Given the description of an element on the screen output the (x, y) to click on. 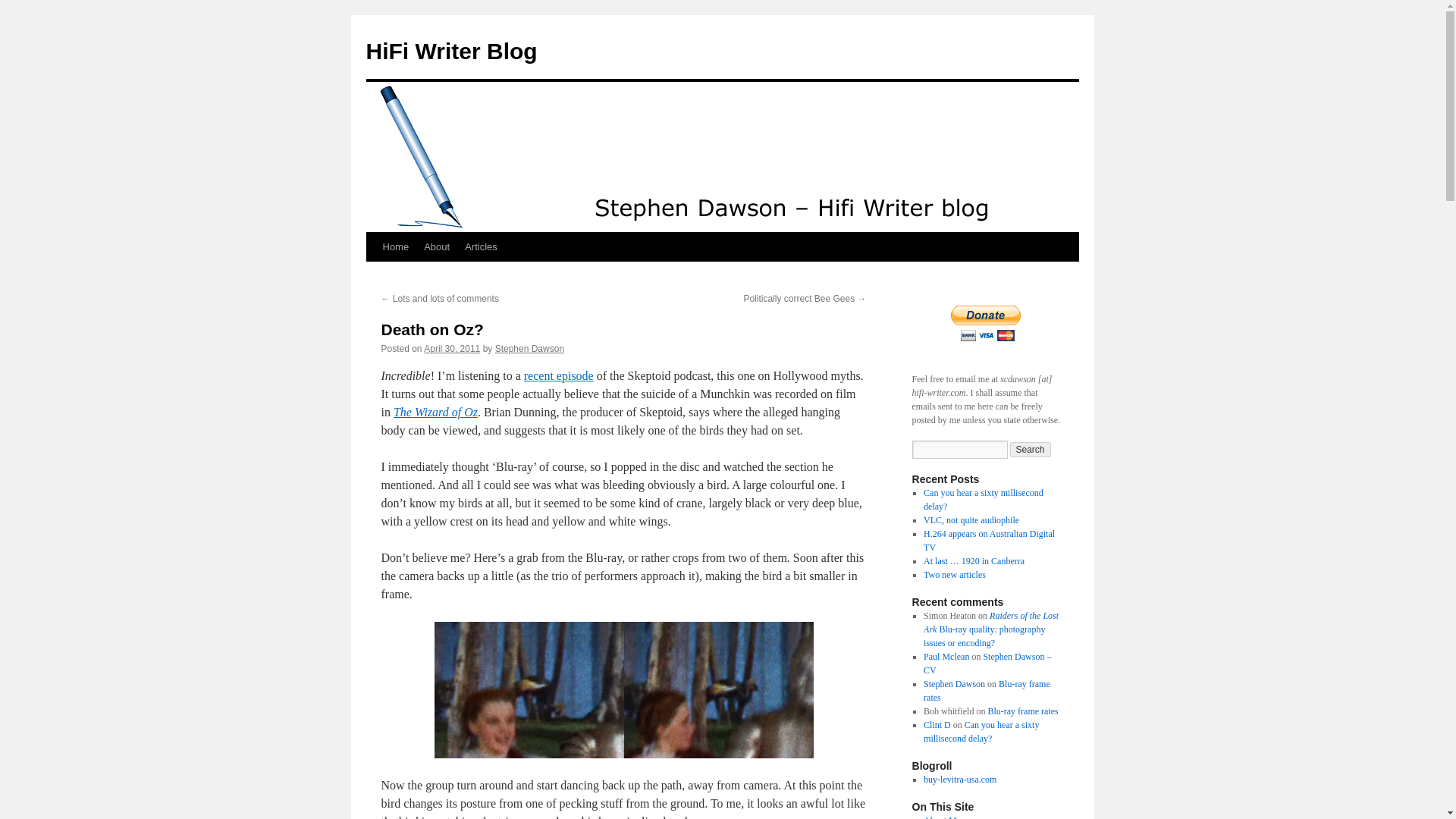
VLC, not quite audiophile (971, 520)
Stephen Dawson (529, 348)
HiFi Writer Blog (451, 50)
Search (1030, 449)
The Wizard of Oz (435, 411)
recent episode (559, 375)
View all posts by Stephen Dawson (529, 348)
Two new articles (954, 574)
About (436, 246)
Can you hear a sixty millisecond delay? (983, 499)
Articles (481, 246)
H.264 appears on Australian Digital TV (988, 540)
All about the website owner, Stephen Dawson (941, 816)
Stephen Dawson (954, 683)
